Given the description of an element on the screen output the (x, y) to click on. 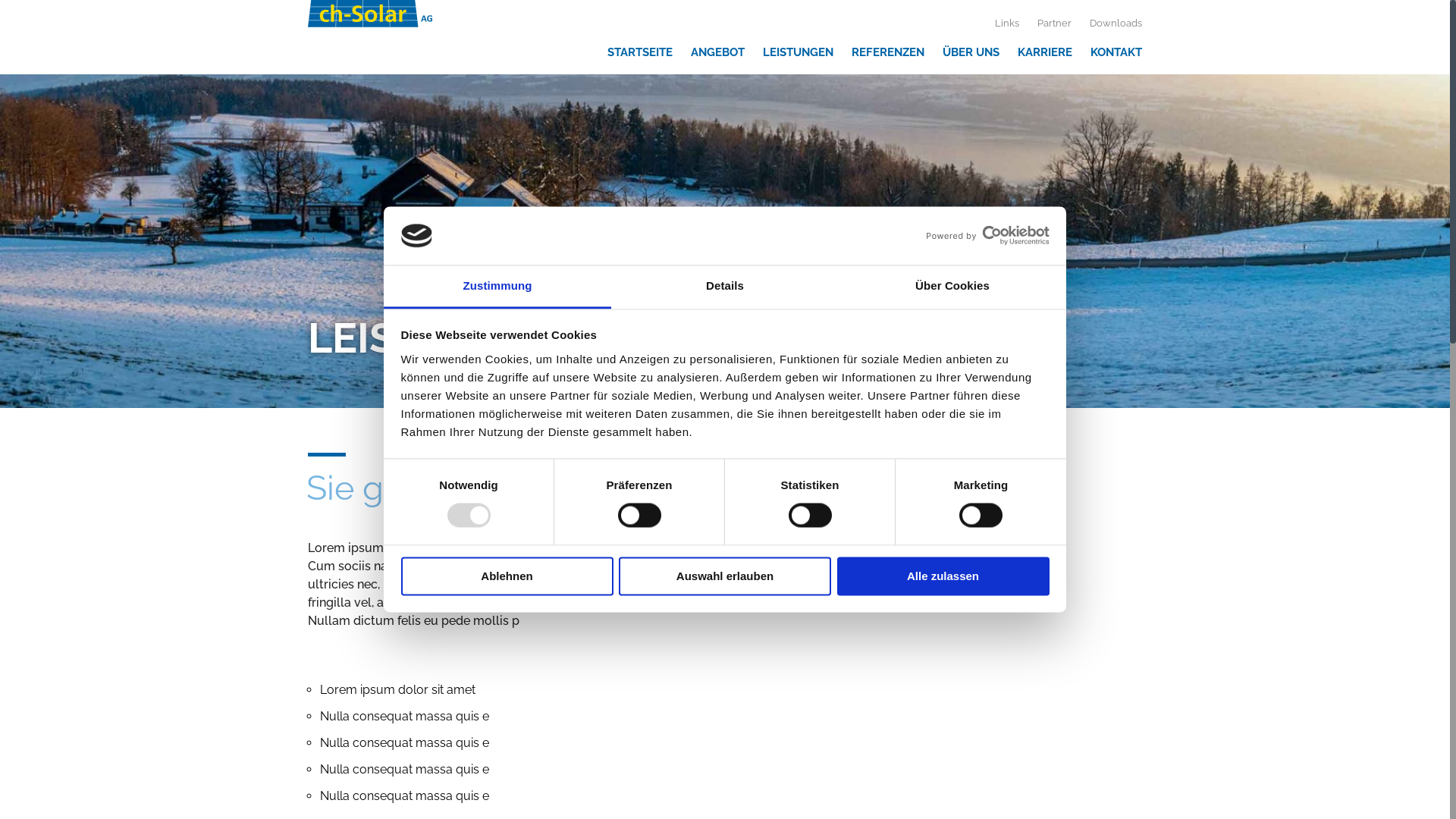
Zustimmung Element type: text (497, 286)
Alle zulassen Element type: text (943, 575)
REFERENZEN Element type: text (887, 52)
Downloads Element type: text (1115, 22)
LEISTUNGEN Element type: text (797, 52)
ANGEBOT Element type: text (717, 52)
Links Element type: text (1006, 22)
STARTSEITE Element type: text (639, 52)
Partner Element type: text (1054, 22)
KARRIERE Element type: text (1044, 52)
Auswahl erlauben Element type: text (724, 575)
Details Element type: text (724, 286)
Ablehnen Element type: text (506, 575)
KONTAKT Element type: text (1116, 52)
